Given the description of an element on the screen output the (x, y) to click on. 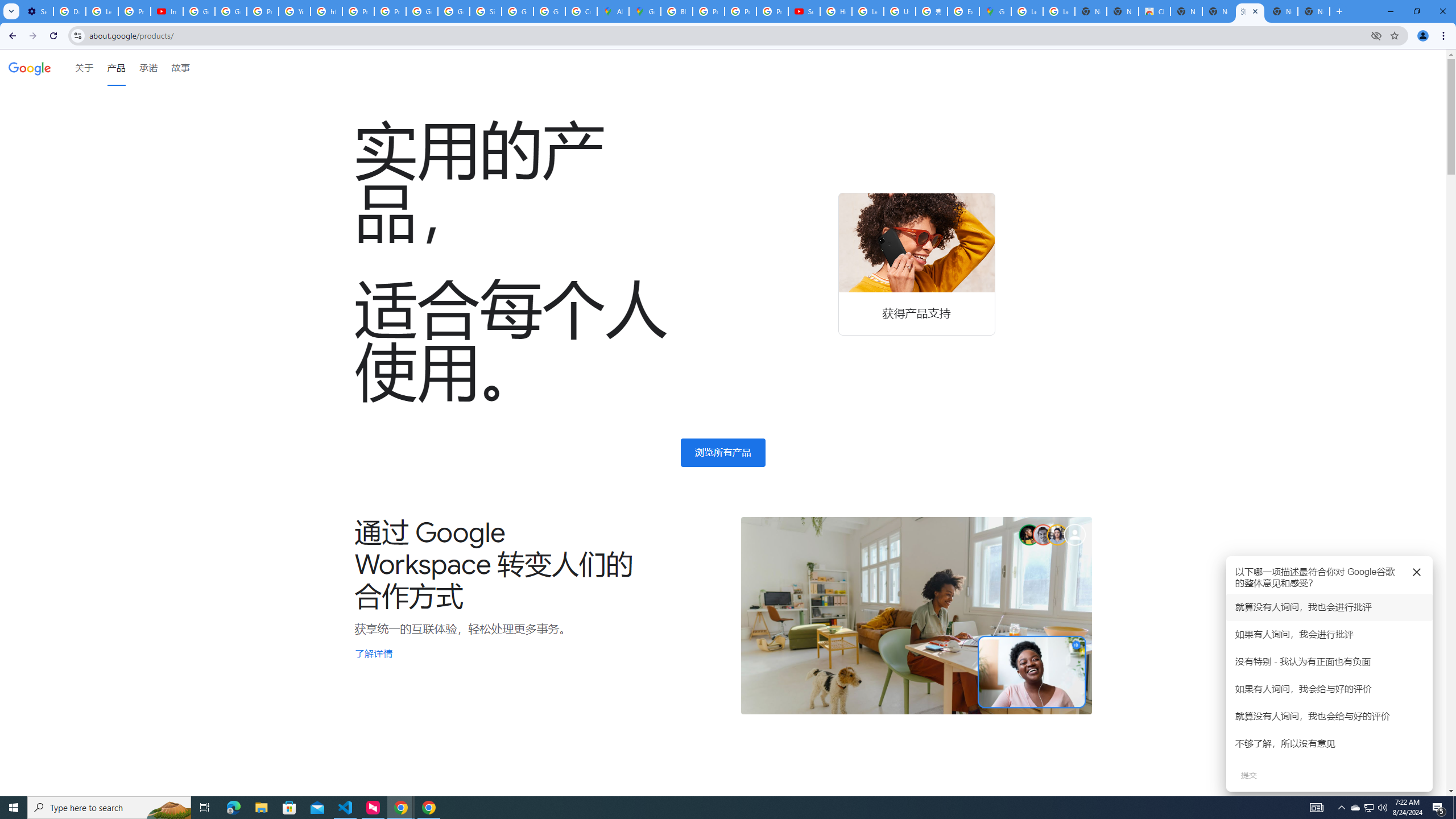
Introduction | Google Privacy Policy - YouTube (166, 11)
Google Maps (644, 11)
Chrome Web Store (1154, 11)
YouTube (294, 11)
